Given the description of an element on the screen output the (x, y) to click on. 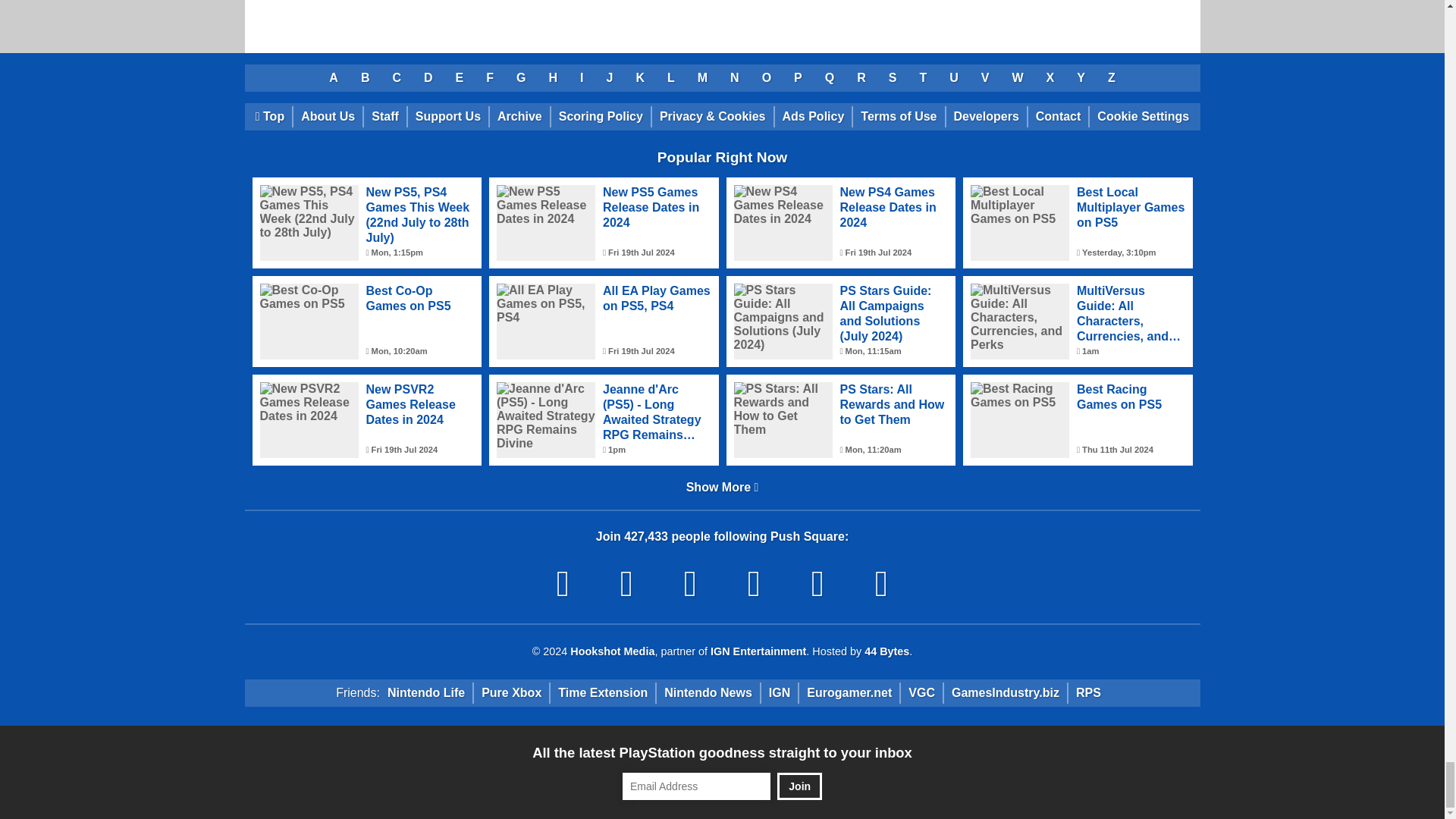
Join (799, 786)
